Given the description of an element on the screen output the (x, y) to click on. 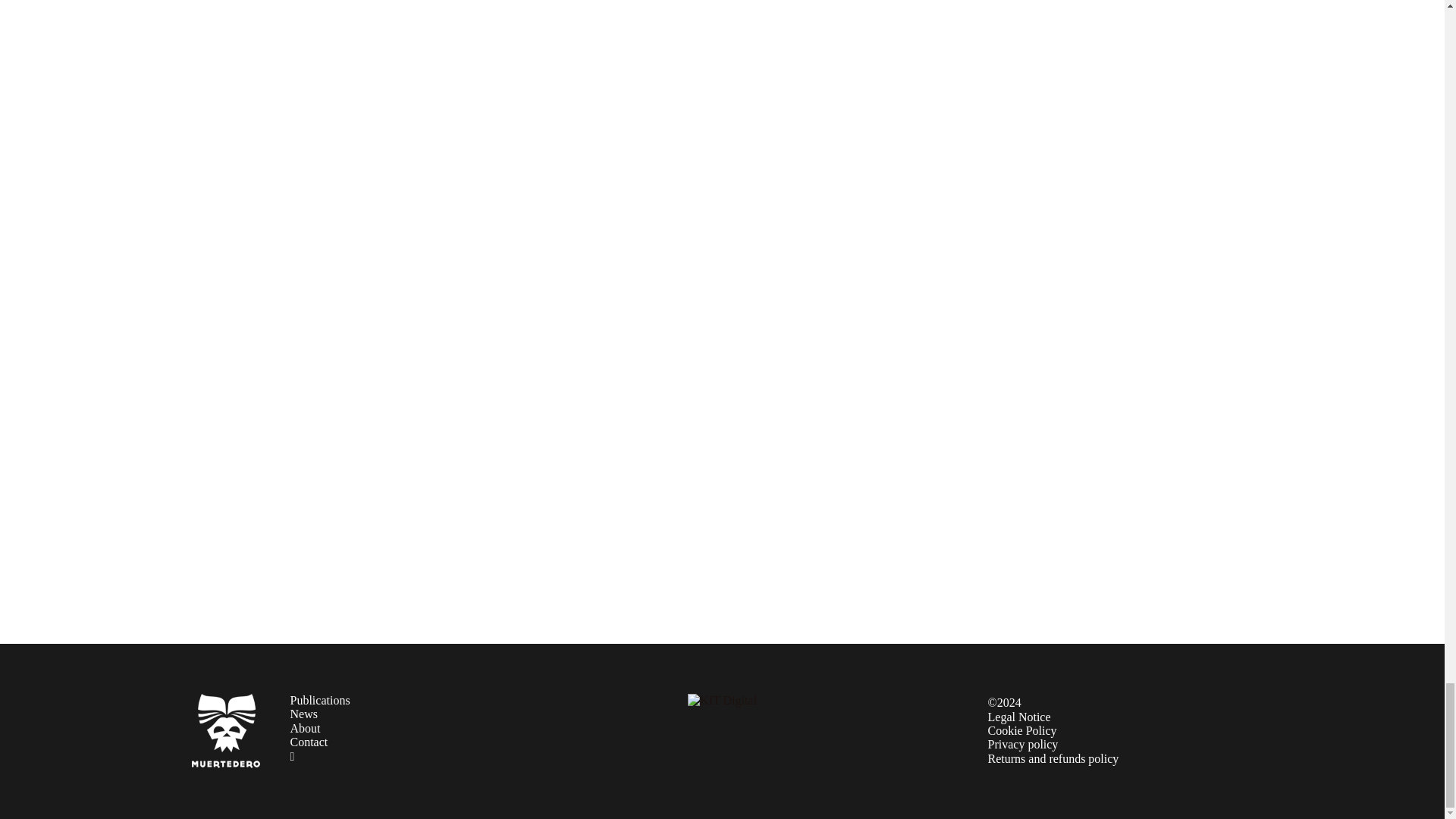
About (304, 727)
Publications (319, 699)
Legal Notice (1018, 716)
Contact (308, 741)
Privacy policy (1022, 744)
News (303, 713)
Cookie Policy (1022, 730)
Returns and refunds policy (1052, 758)
